Given the description of an element on the screen output the (x, y) to click on. 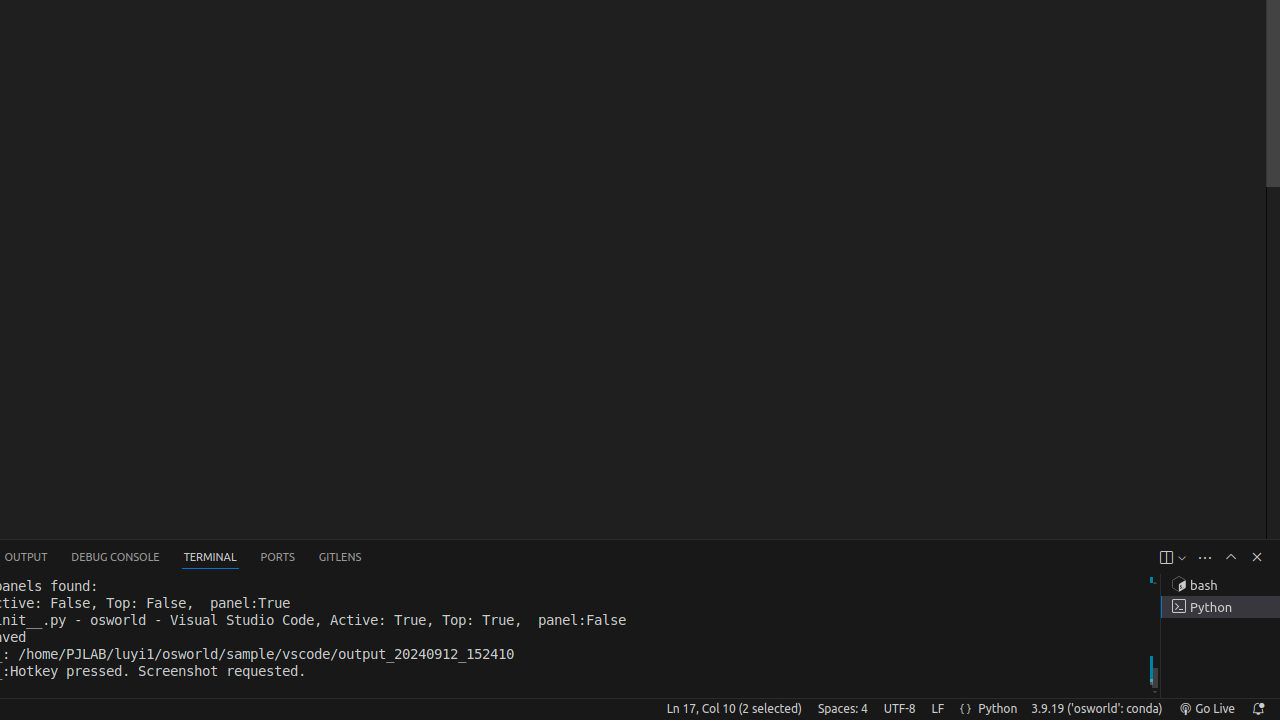
Debug Console (Ctrl+Shift+Y) Element type: page-tab (115, 557)
Views and More Actions... Element type: push-button (1205, 557)
Spaces: 4 Element type: push-button (842, 709)
Hide Panel Element type: push-button (1257, 557)
UTF-8 Element type: push-button (899, 709)
